Given the description of an element on the screen output the (x, y) to click on. 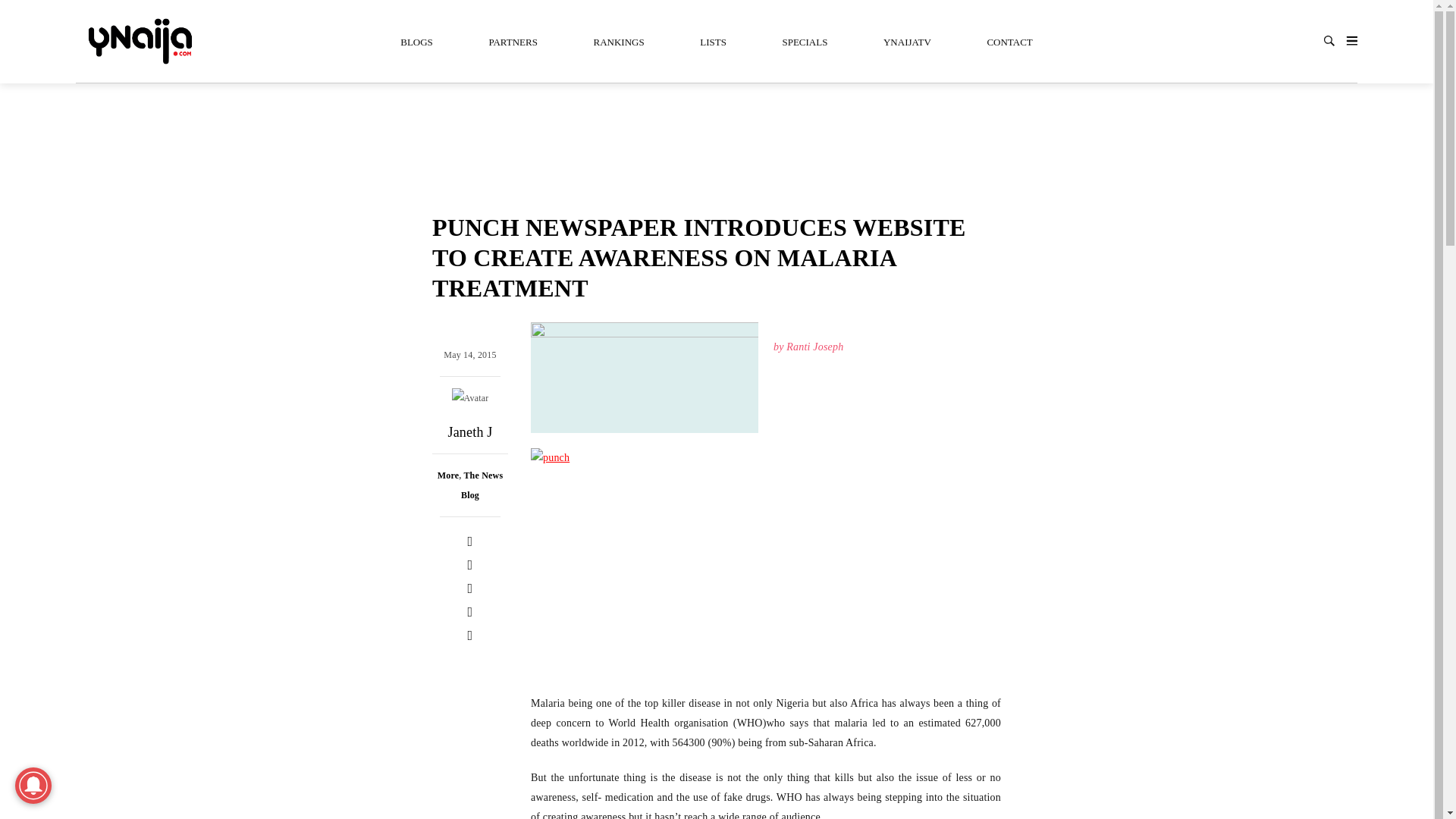
PARTNERS (512, 41)
CONTACT (1008, 41)
LISTS (713, 41)
RANKINGS (617, 41)
Facebook (470, 541)
SPECIALS (804, 41)
YNAIJATV (907, 41)
BLOGS (417, 41)
